Given the description of an element on the screen output the (x, y) to click on. 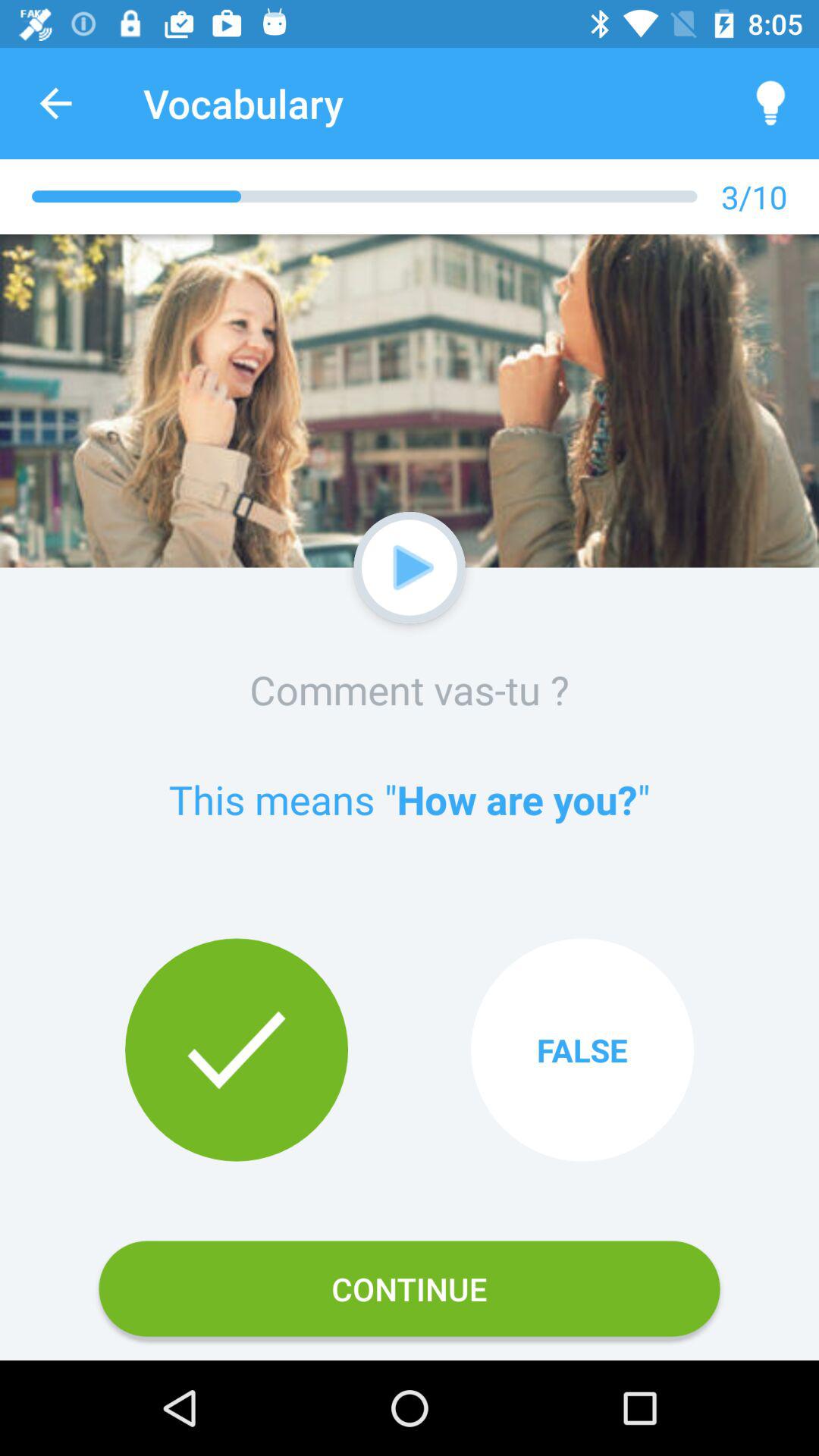
select app to the left of vocabulary icon (55, 103)
